Given the description of an element on the screen output the (x, y) to click on. 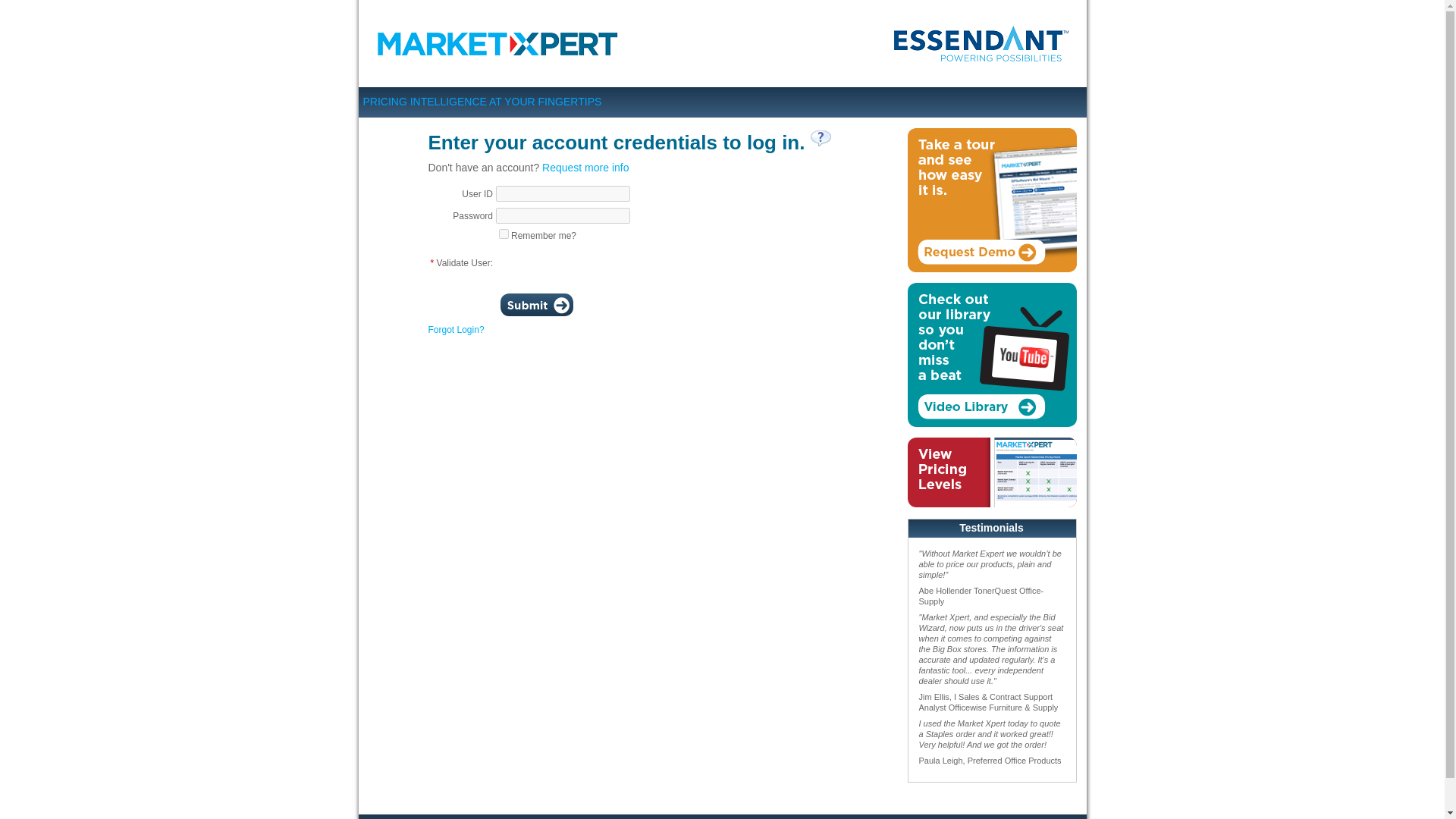
Forgot Login? (455, 329)
true (503, 234)
Market Xpert (500, 43)
Request more info (584, 167)
